Given the description of an element on the screen output the (x, y) to click on. 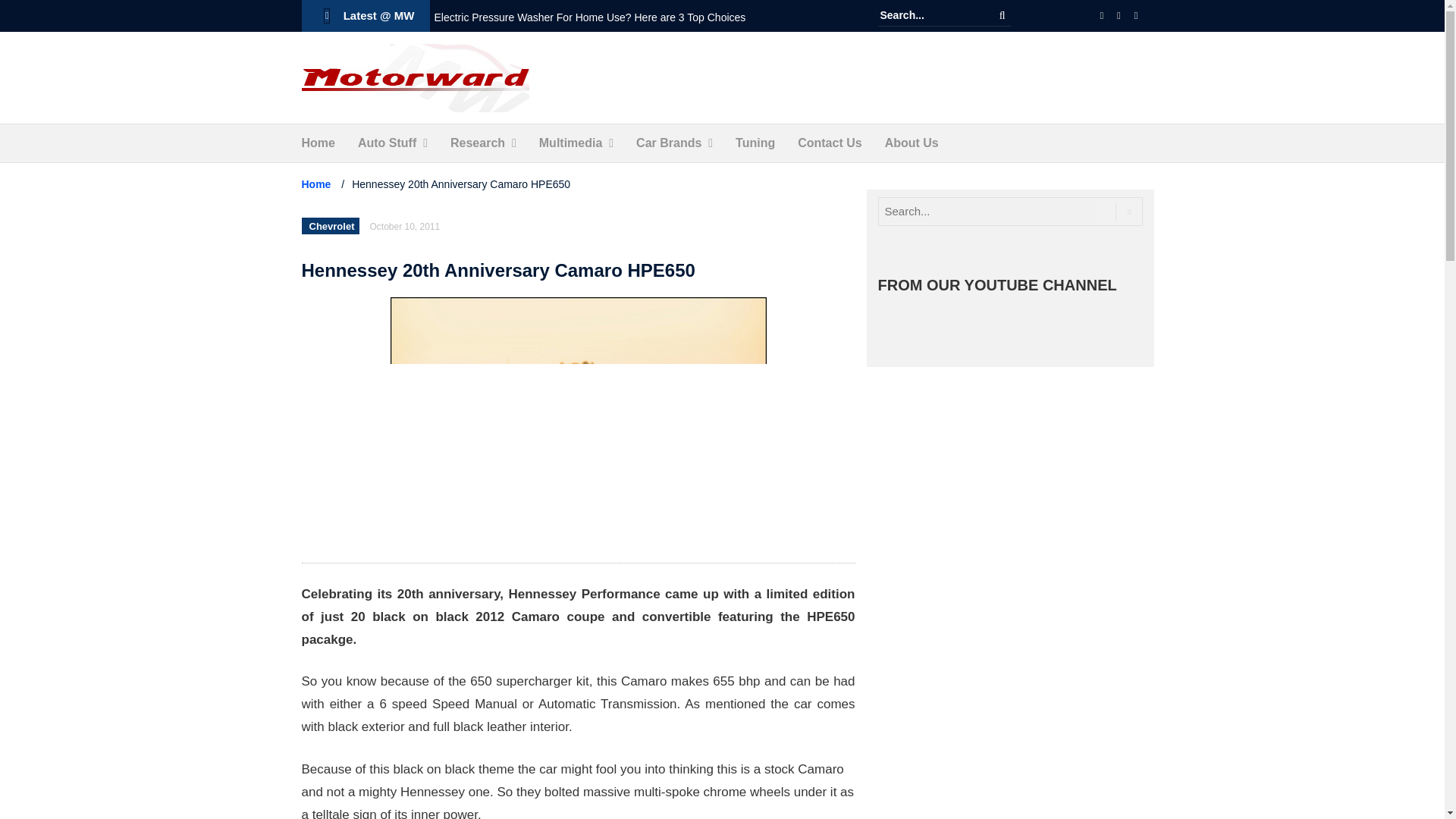
Research (477, 143)
Hennessey 20th Anniversary Camaro HPE650 1 (577, 422)
Car Brands (668, 143)
Auto Stuff (387, 143)
Multimedia (570, 143)
Search   (1002, 14)
Home (317, 143)
